Given the description of an element on the screen output the (x, y) to click on. 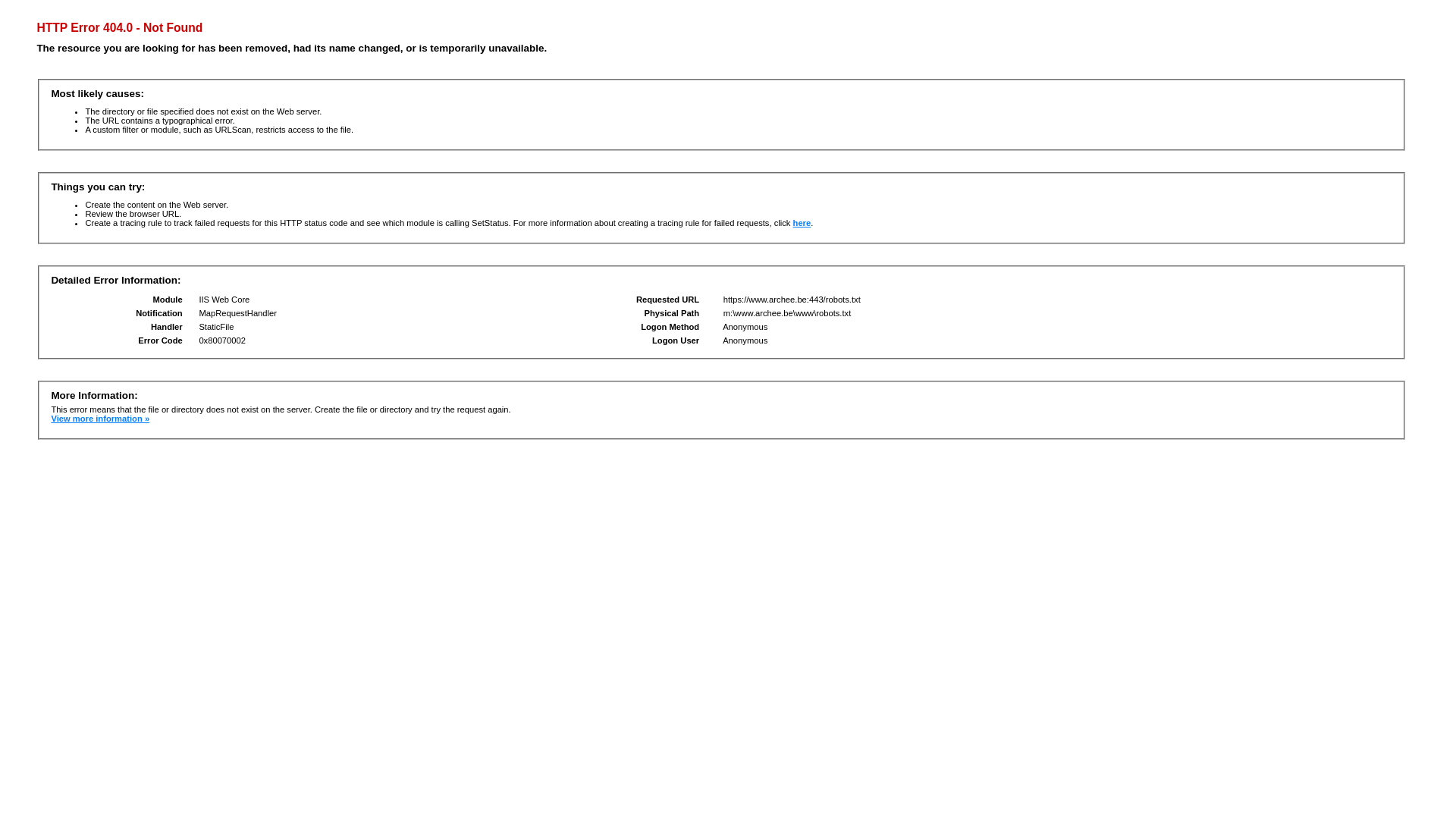
here Element type: text (802, 222)
